Given the description of an element on the screen output the (x, y) to click on. 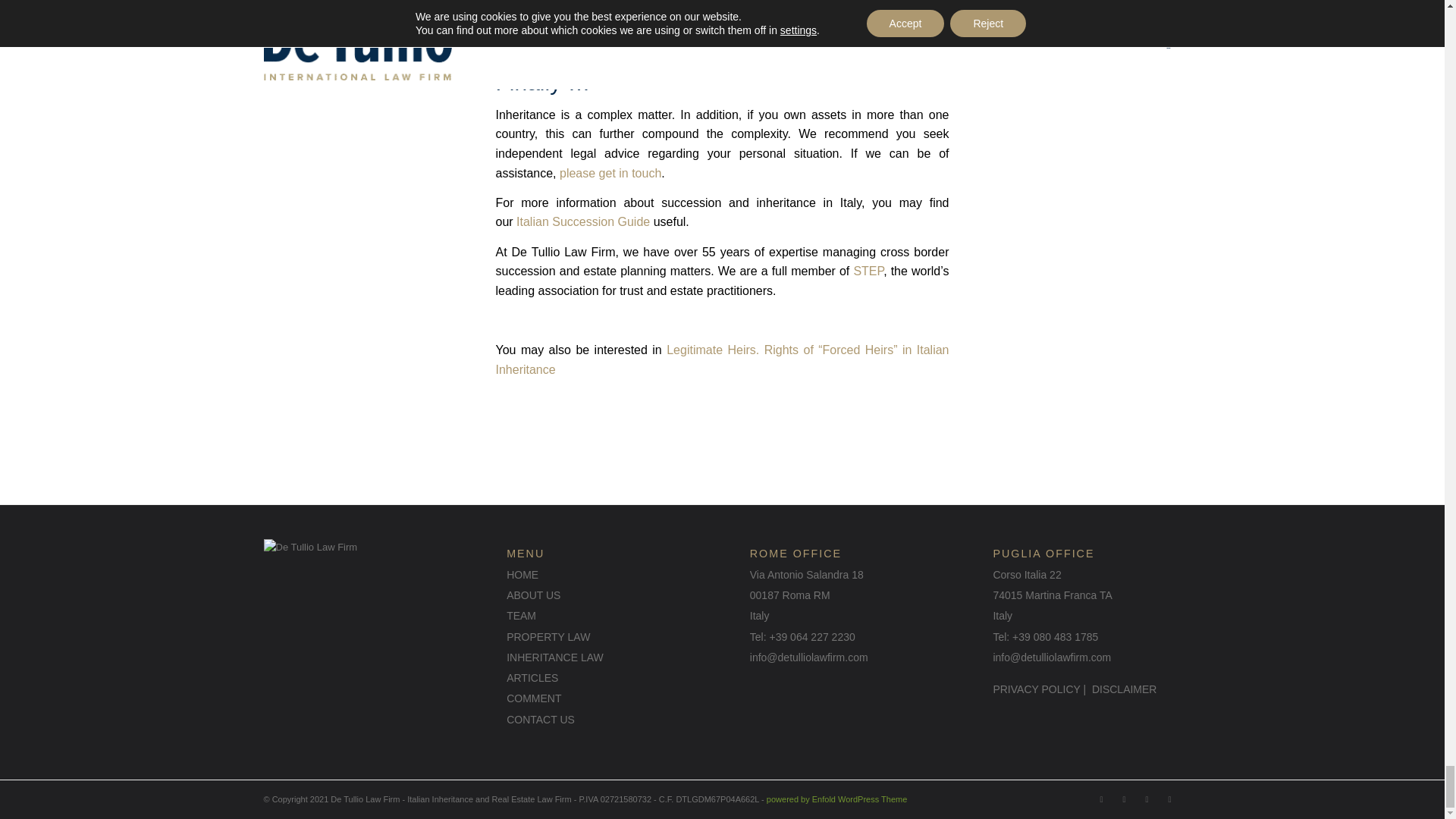
Instagram (1124, 798)
Facebook (1101, 798)
